Given the description of an element on the screen output the (x, y) to click on. 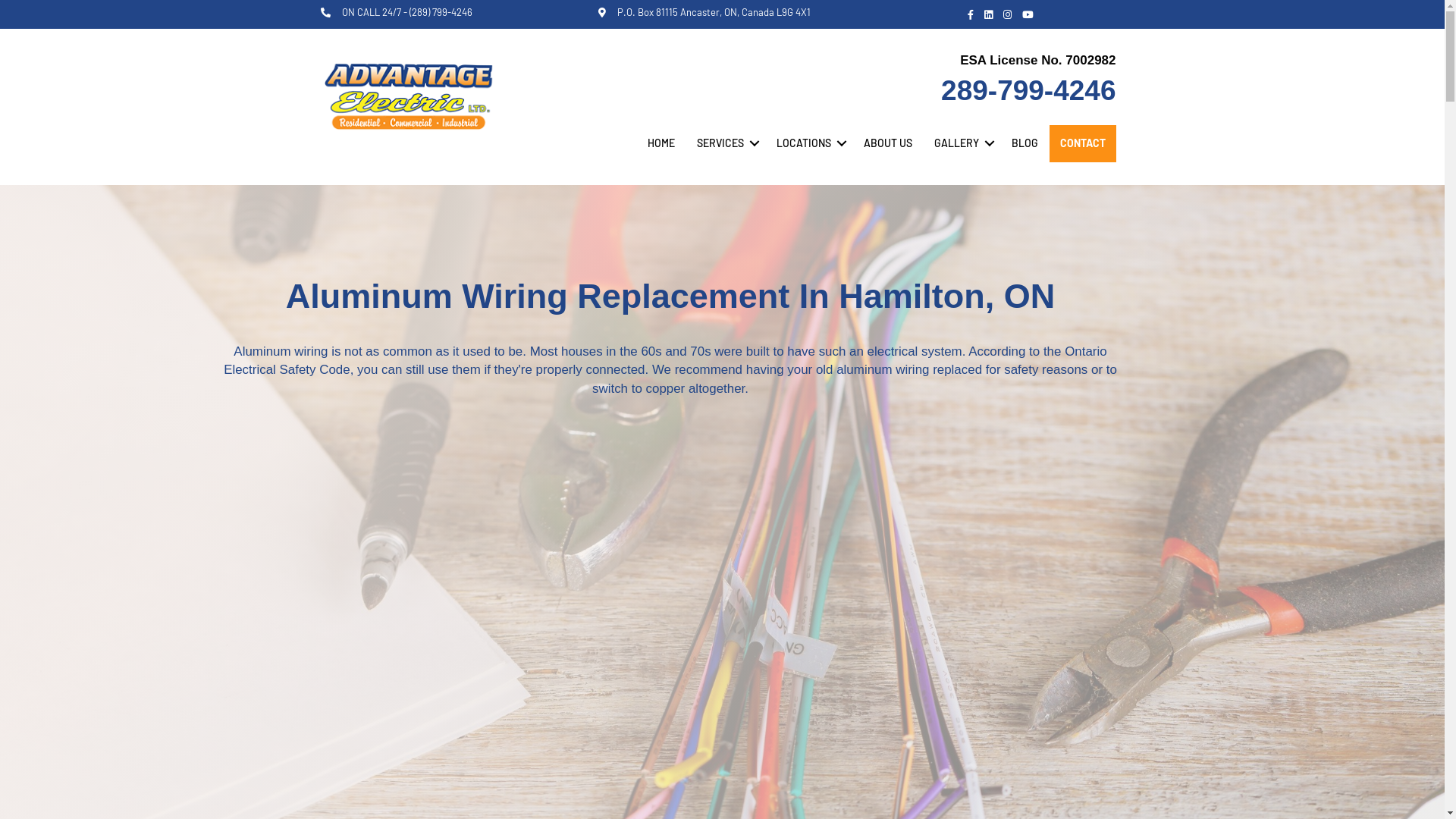
SERVICES Element type: text (724, 143)
LOCATIONS Element type: text (808, 143)
ABOUT US Element type: text (887, 143)
CONTACT Element type: text (1082, 143)
GALLERY Element type: text (961, 143)
HOME Element type: text (661, 143)
ON CALL 24/7 - (289) 799-4246 Element type: text (406, 12)
BLOG Element type: text (1024, 143)
289-799-4246 Element type: text (1028, 90)
